Given the description of an element on the screen output the (x, y) to click on. 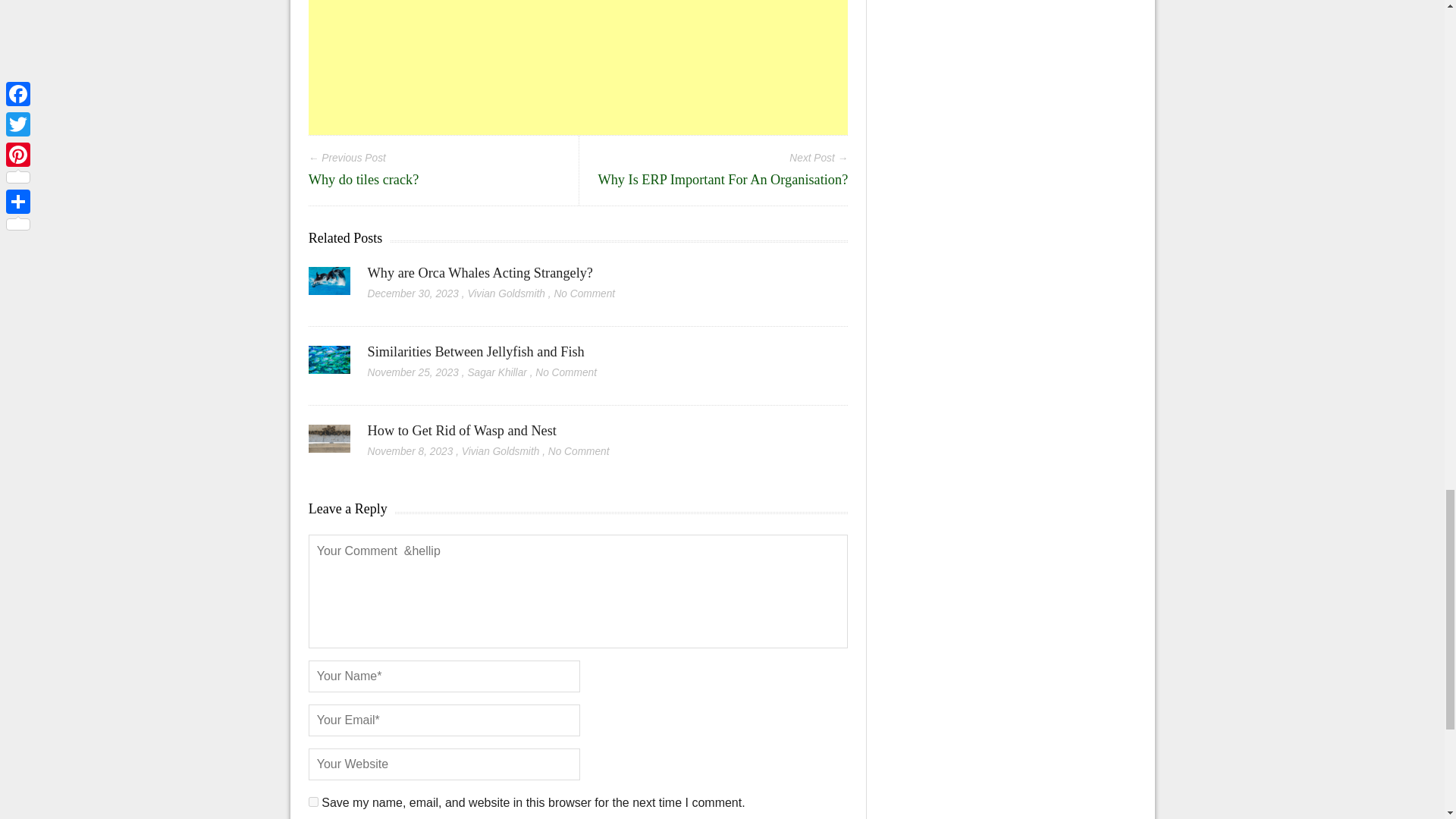
No Comment (565, 372)
No Comment (583, 293)
Sagar Khillar (496, 372)
Posts by Sagar Khillar (496, 372)
Why are Orca Whales Acting Strangely?  (482, 272)
How to Get Rid of Wasp and Nest (329, 443)
Similarities Between Jellyfish and Fish (476, 351)
Advertisement (578, 67)
